Given the description of an element on the screen output the (x, y) to click on. 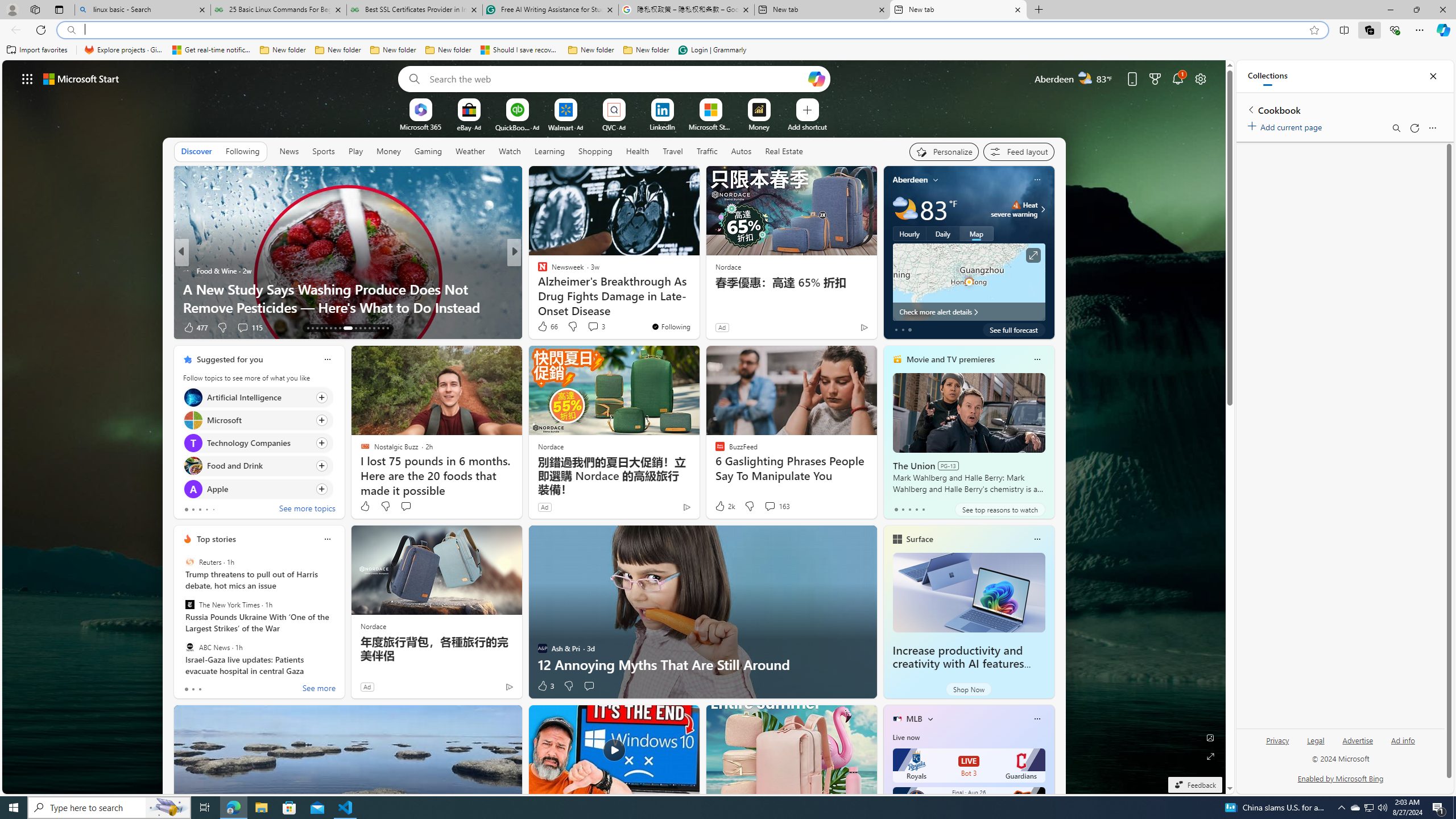
Aberdeen (910, 179)
Sports (323, 151)
AutomationID: tab-15 (317, 328)
Microsoft start (81, 78)
Maritime Fixers (697, 307)
Page settings (1200, 78)
AutomationID: tab-29 (387, 328)
My location (936, 179)
2k Like (724, 505)
